Given the description of an element on the screen output the (x, y) to click on. 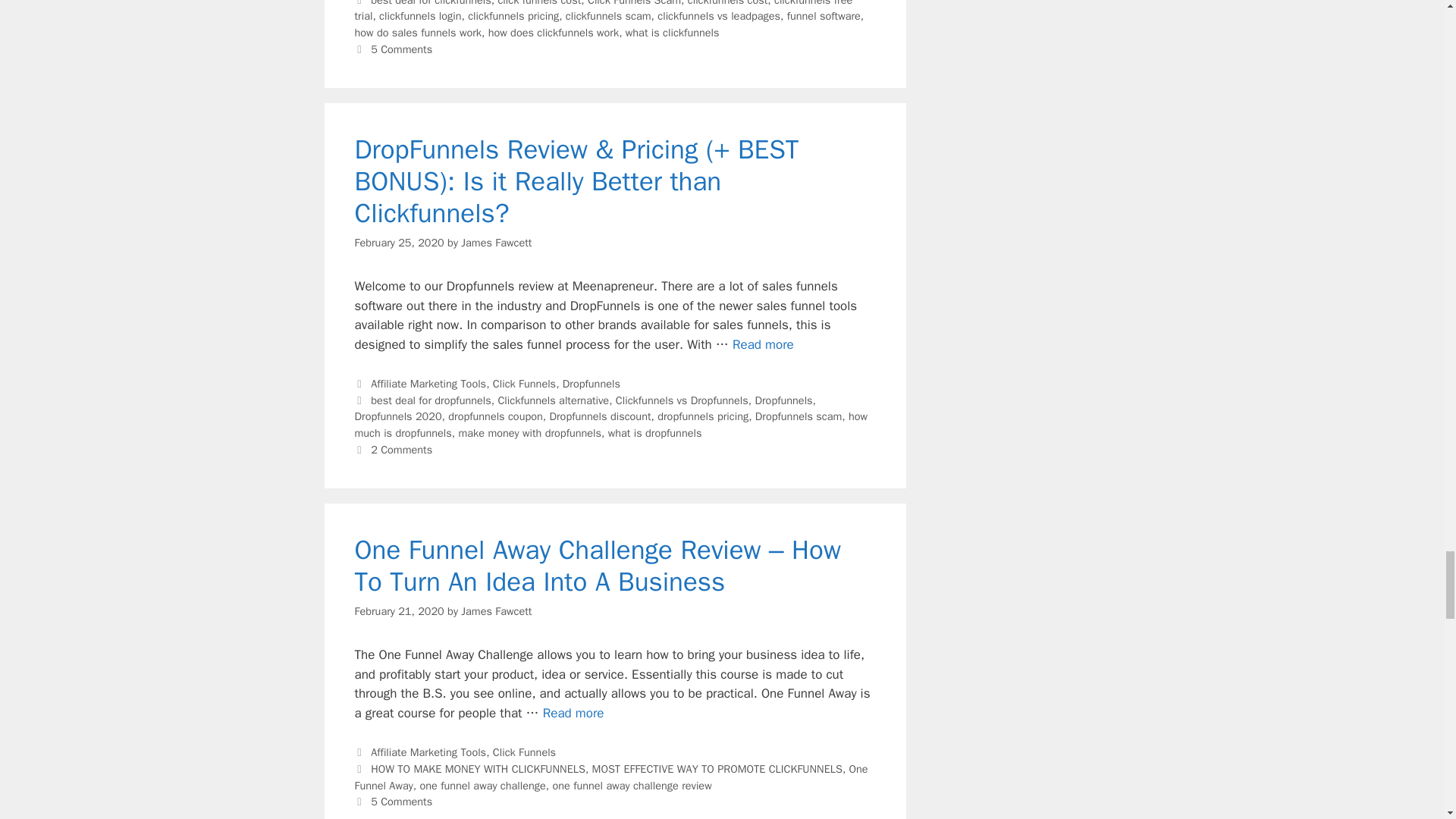
View all posts by James Fawcett (496, 611)
View all posts by James Fawcett (496, 241)
